Given the description of an element on the screen output the (x, y) to click on. 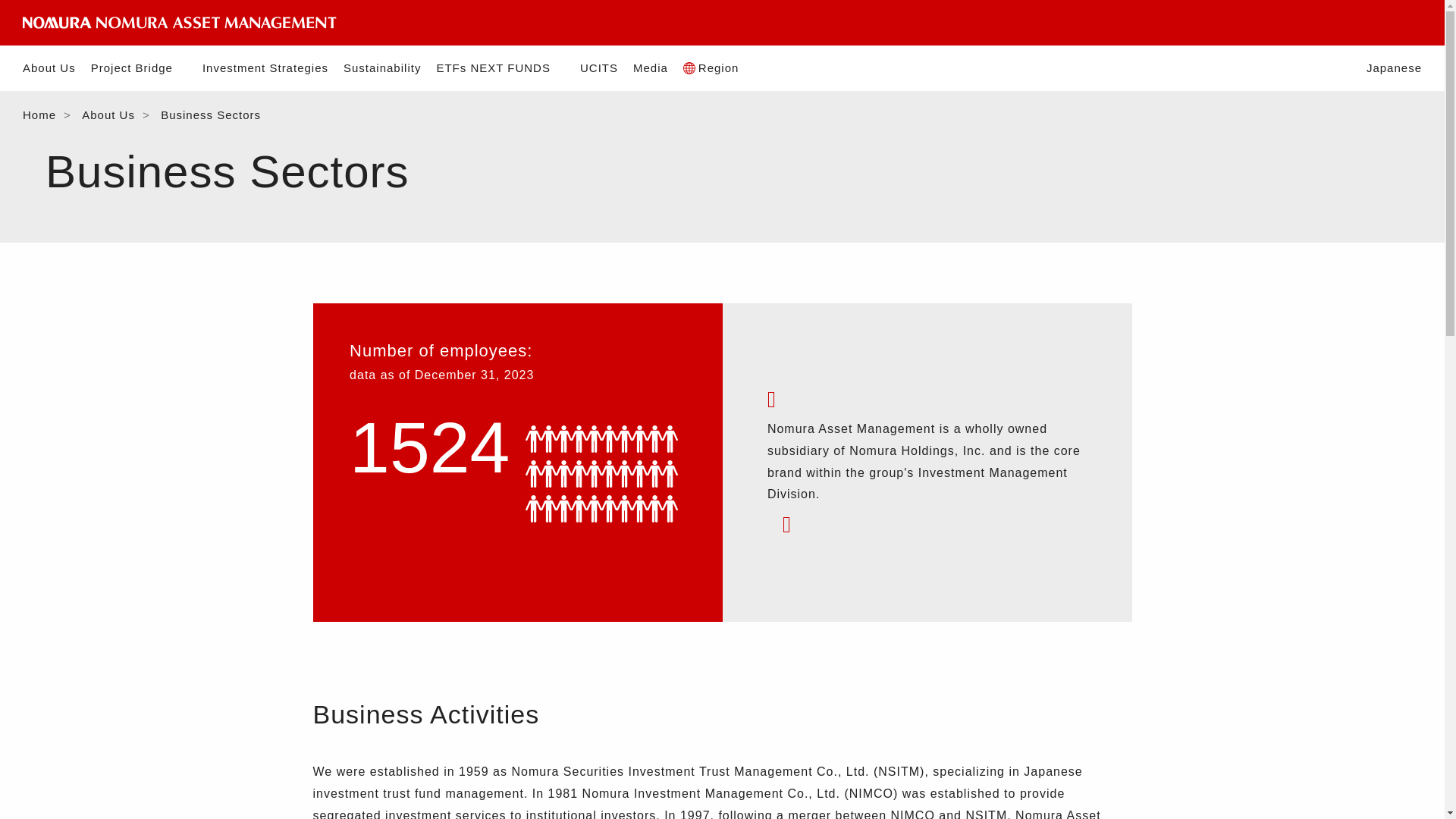
ETFs NEXT FUNDS (499, 67)
Project Bridge (138, 67)
Japanese (1394, 67)
Home (39, 114)
UCITS (598, 67)
